Given the description of an element on the screen output the (x, y) to click on. 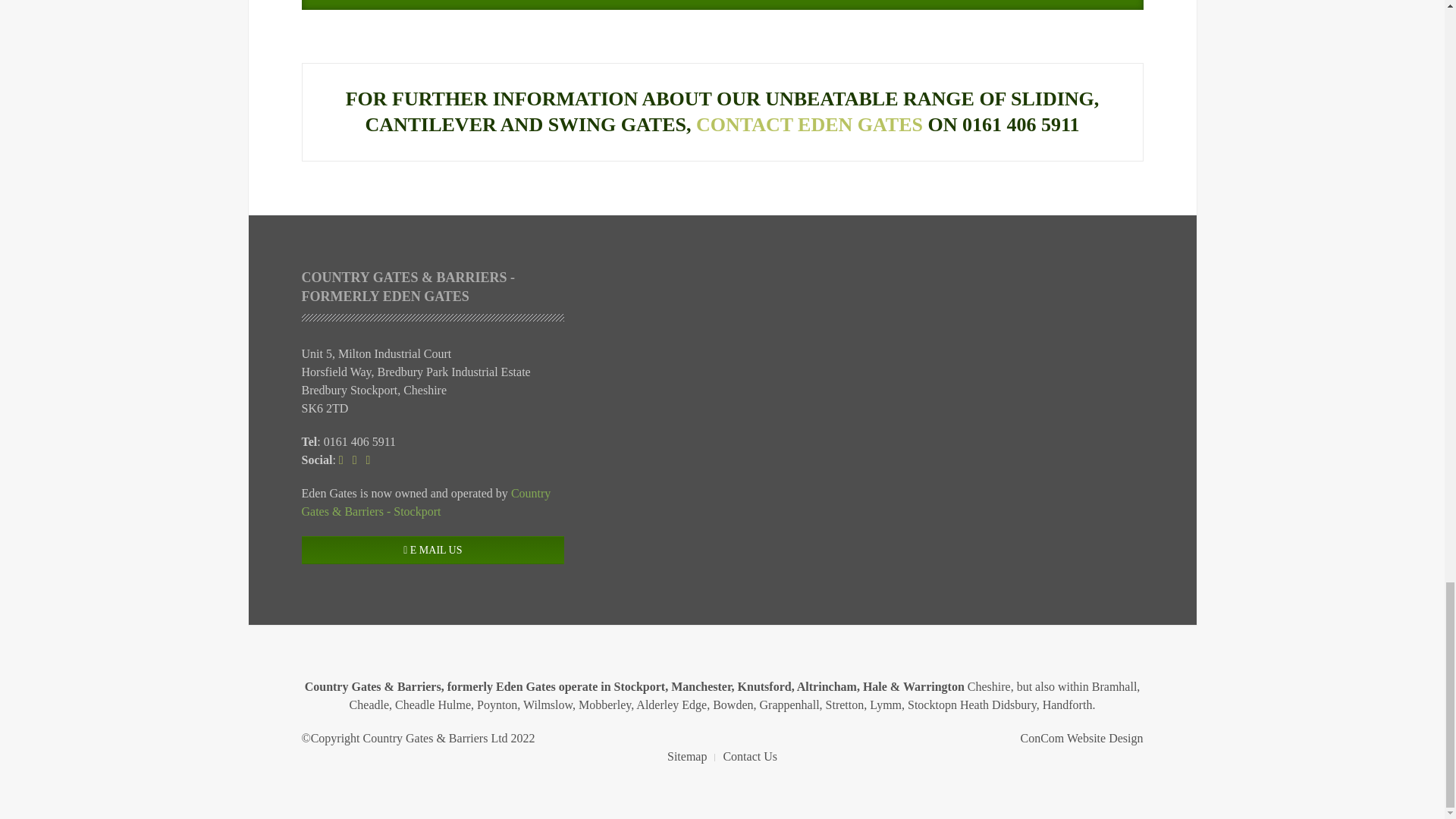
ConCom Website Design (1081, 738)
Website Design Stockport (1081, 738)
Contact Us (749, 756)
Sitemap (686, 756)
E MAIL US (432, 550)
CONTACT EDEN GATES (809, 124)
